Given the description of an element on the screen output the (x, y) to click on. 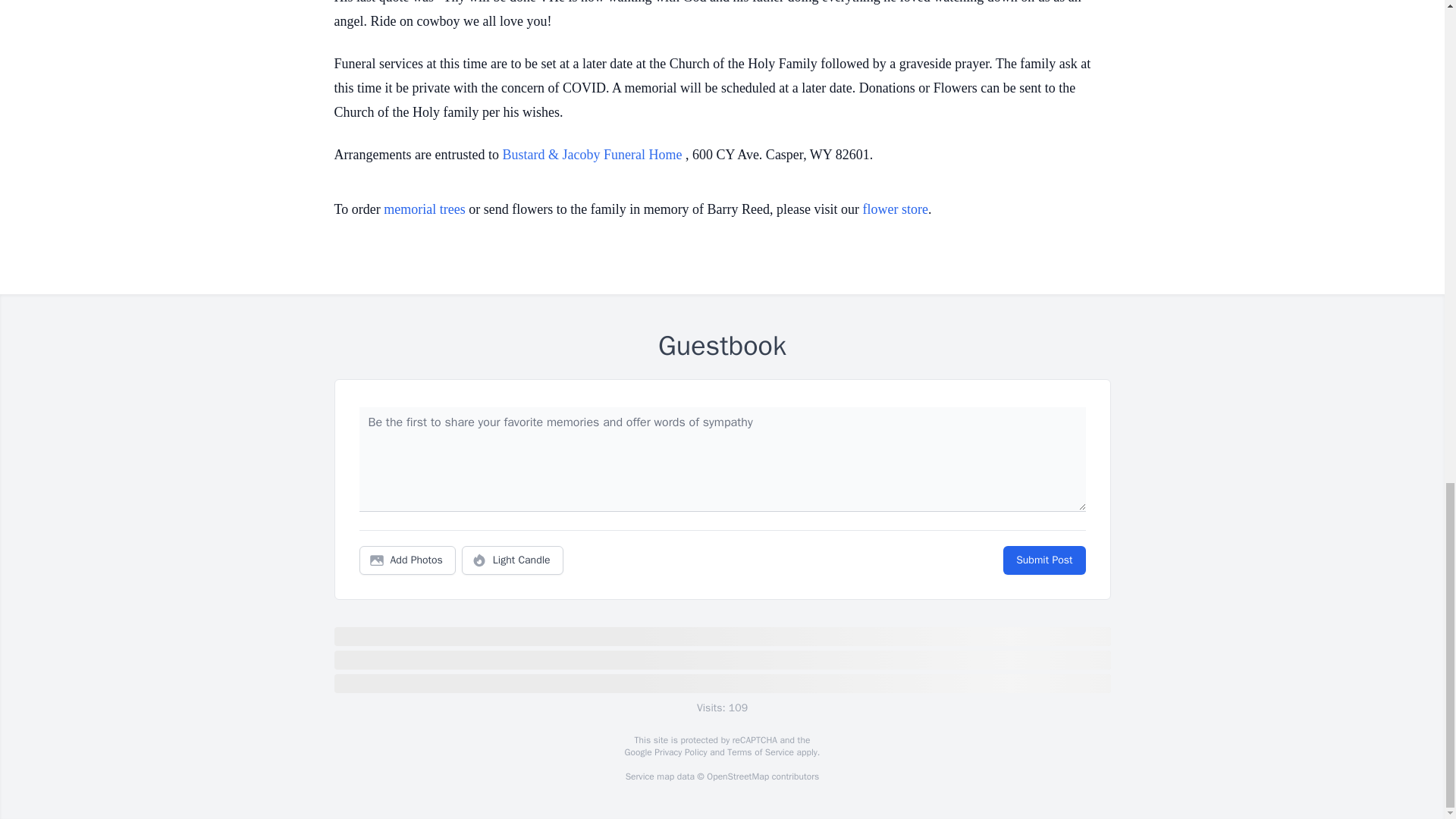
Light Candle (512, 560)
Privacy Policy (679, 752)
memorial trees (424, 209)
flower store (895, 209)
Terms of Service (759, 752)
OpenStreetMap (737, 776)
Add Photos (407, 560)
Submit Post (1043, 560)
